Given the description of an element on the screen output the (x, y) to click on. 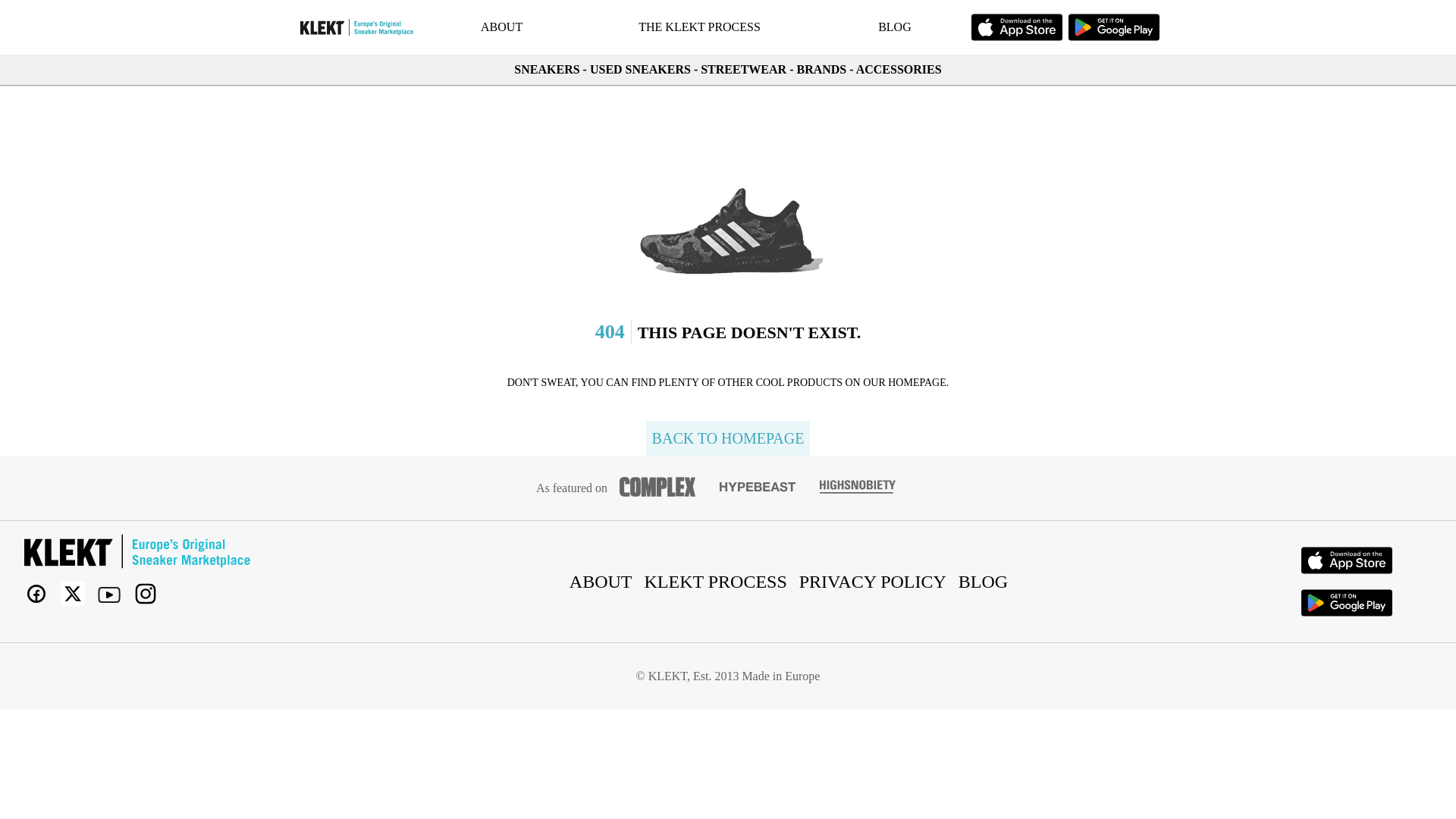
BACK TO HOMEPAGE (728, 438)
KLEKT PROCESS (716, 581)
BRANDS (820, 69)
PRIVACY POLICY (872, 581)
BLOG (894, 27)
THE KLEKT PROCESS (699, 27)
ABOUT (601, 581)
STREETWEAR (743, 69)
SNEAKERS (546, 69)
ACCESSORIES (899, 69)
